Given the description of an element on the screen output the (x, y) to click on. 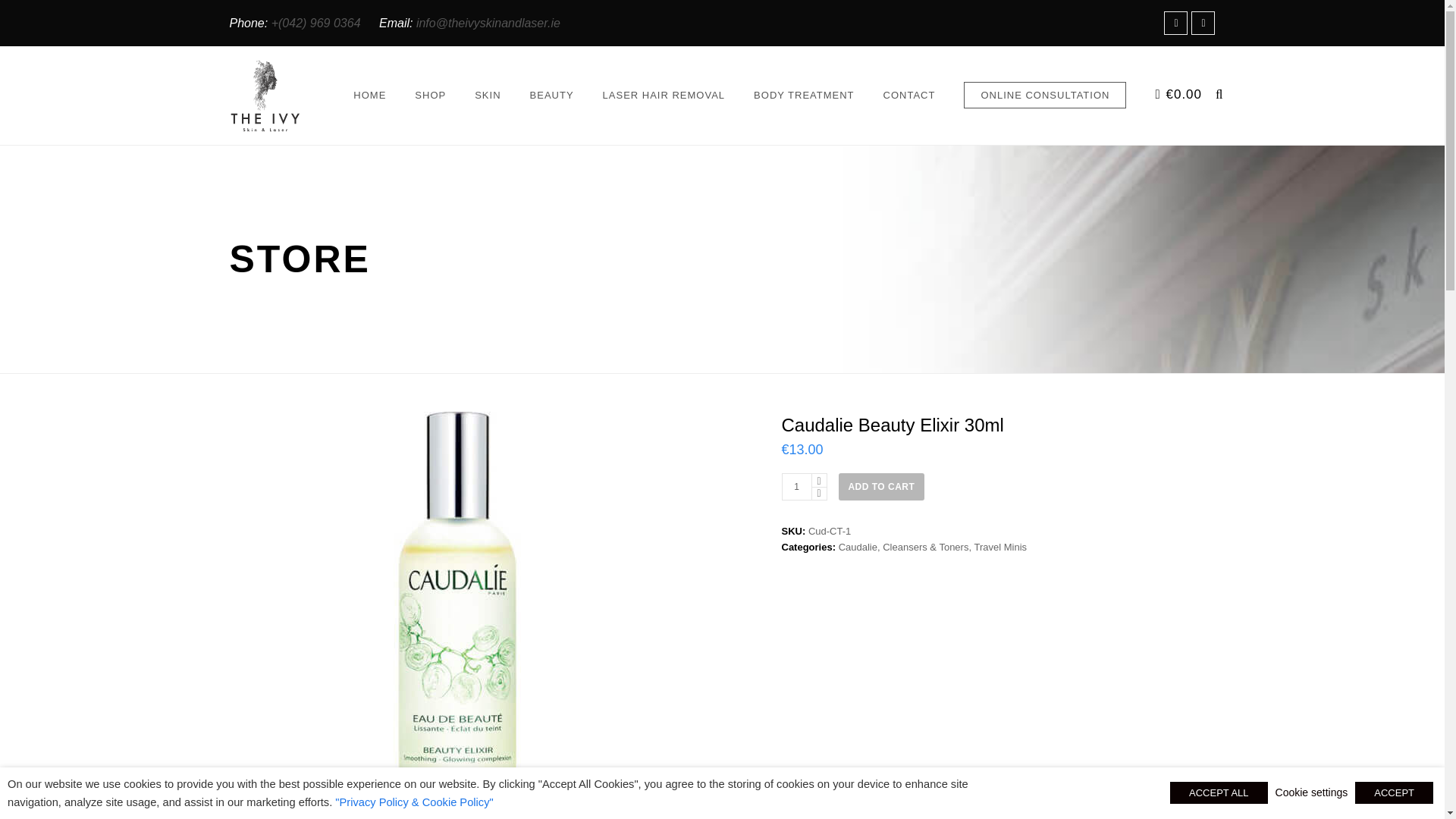
LASER HAIR REMOVAL (664, 95)
Instagram (1202, 23)
1 (795, 486)
BEAUTY (551, 95)
HOME (369, 95)
Search (24, 13)
CONTACT (909, 95)
ONLINE CONSULTATION (1052, 95)
SHOP (430, 95)
Instagram (1202, 23)
Facebook (1175, 23)
BODY TREATMENT (804, 95)
Facebook (1175, 23)
